Given the description of an element on the screen output the (x, y) to click on. 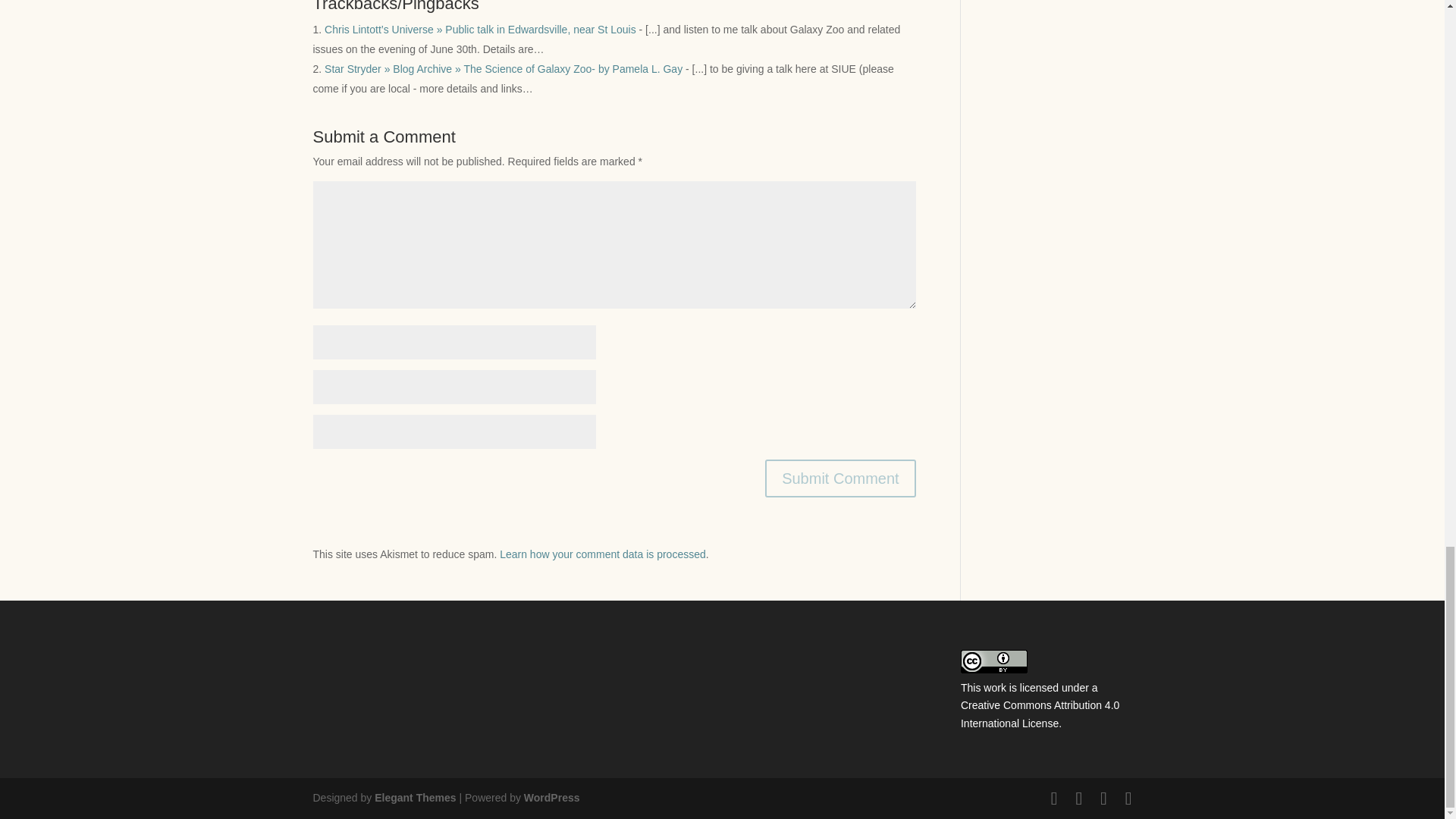
Submit Comment (840, 478)
Premium WordPress Themes (414, 797)
Learn how your comment data is processed (602, 553)
Creative Commons Attribution 4.0 International License (1039, 714)
Elegant Themes (414, 797)
Submit Comment (840, 478)
WordPress (551, 797)
